Given the description of an element on the screen output the (x, y) to click on. 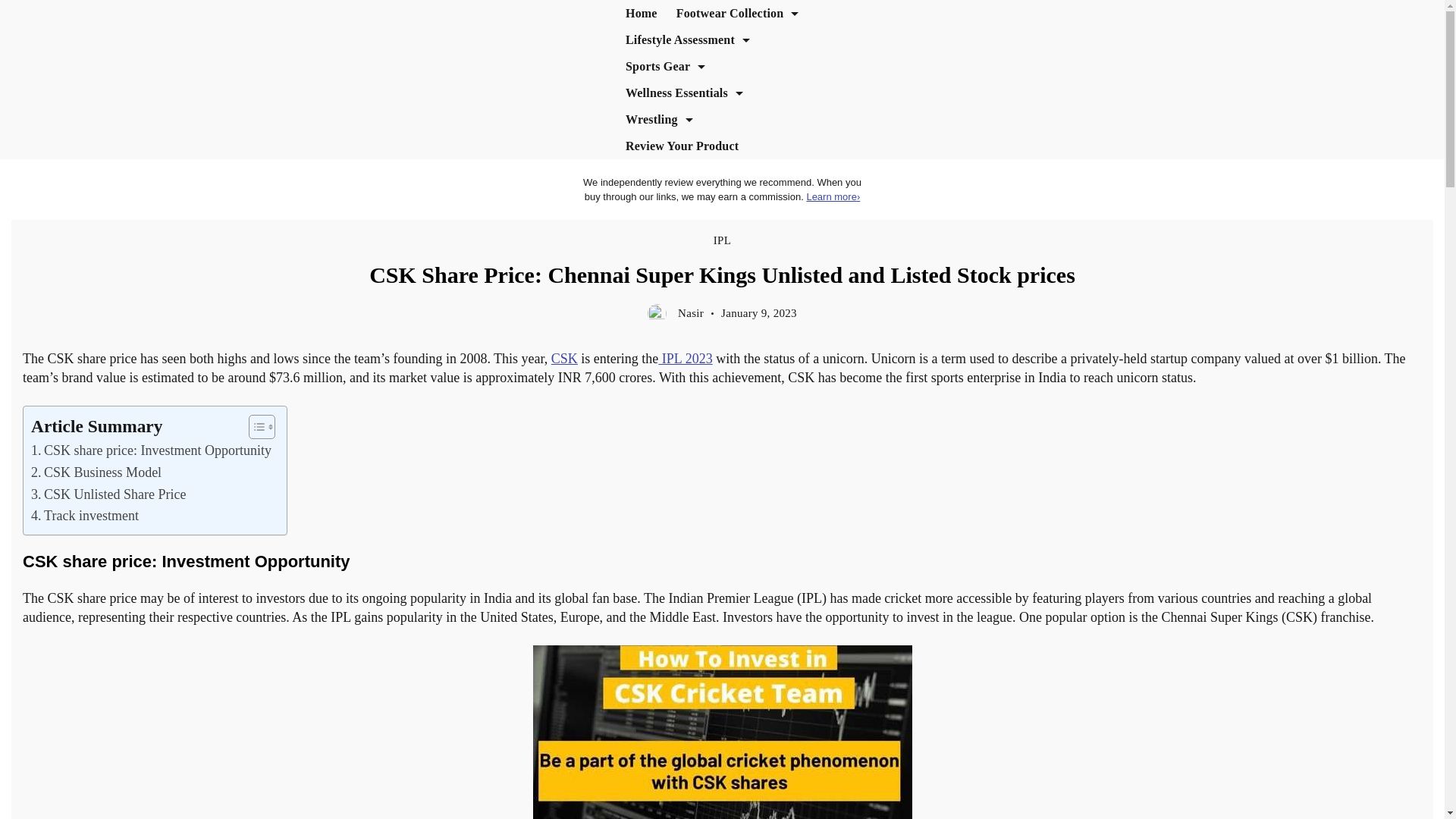
Home (640, 13)
CSK Unlisted Share Price (108, 495)
CSK share price: Investment Opportunity (150, 450)
Footwear Collection (737, 13)
CSK Business Model (95, 472)
Review Your Product (681, 145)
Lifestyle Assessment (686, 39)
Sports Gear (664, 66)
Wrestling (658, 119)
Wellness Essentials (683, 92)
